Given the description of an element on the screen output the (x, y) to click on. 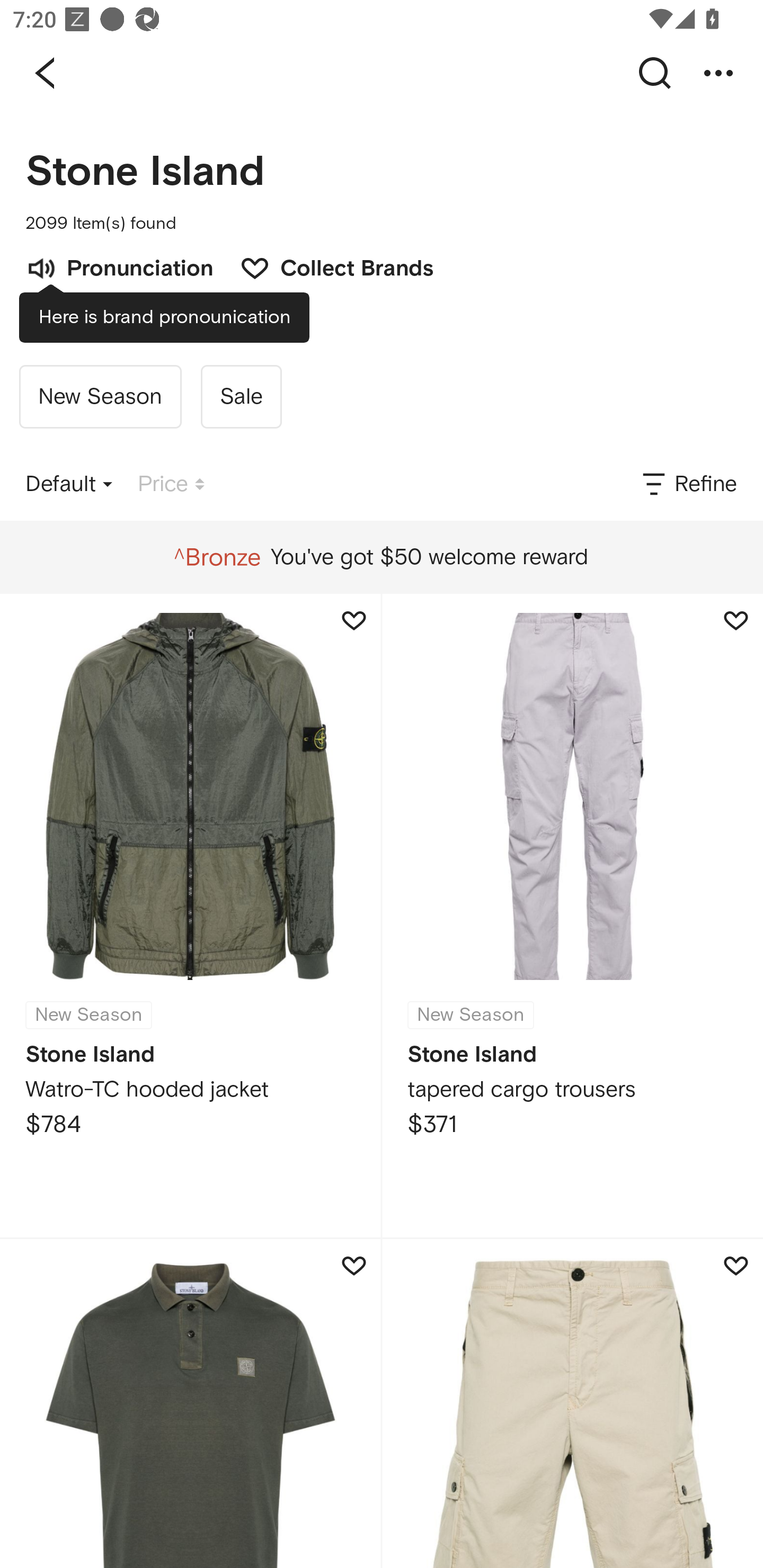
Pronunciation (119, 266)
Collect Brands (327, 266)
New Season (100, 396)
Sale (240, 396)
Default (68, 484)
Price (171, 484)
Refine (688, 484)
You've got $50 welcome reward (381, 557)
